Given the description of an element on the screen output the (x, y) to click on. 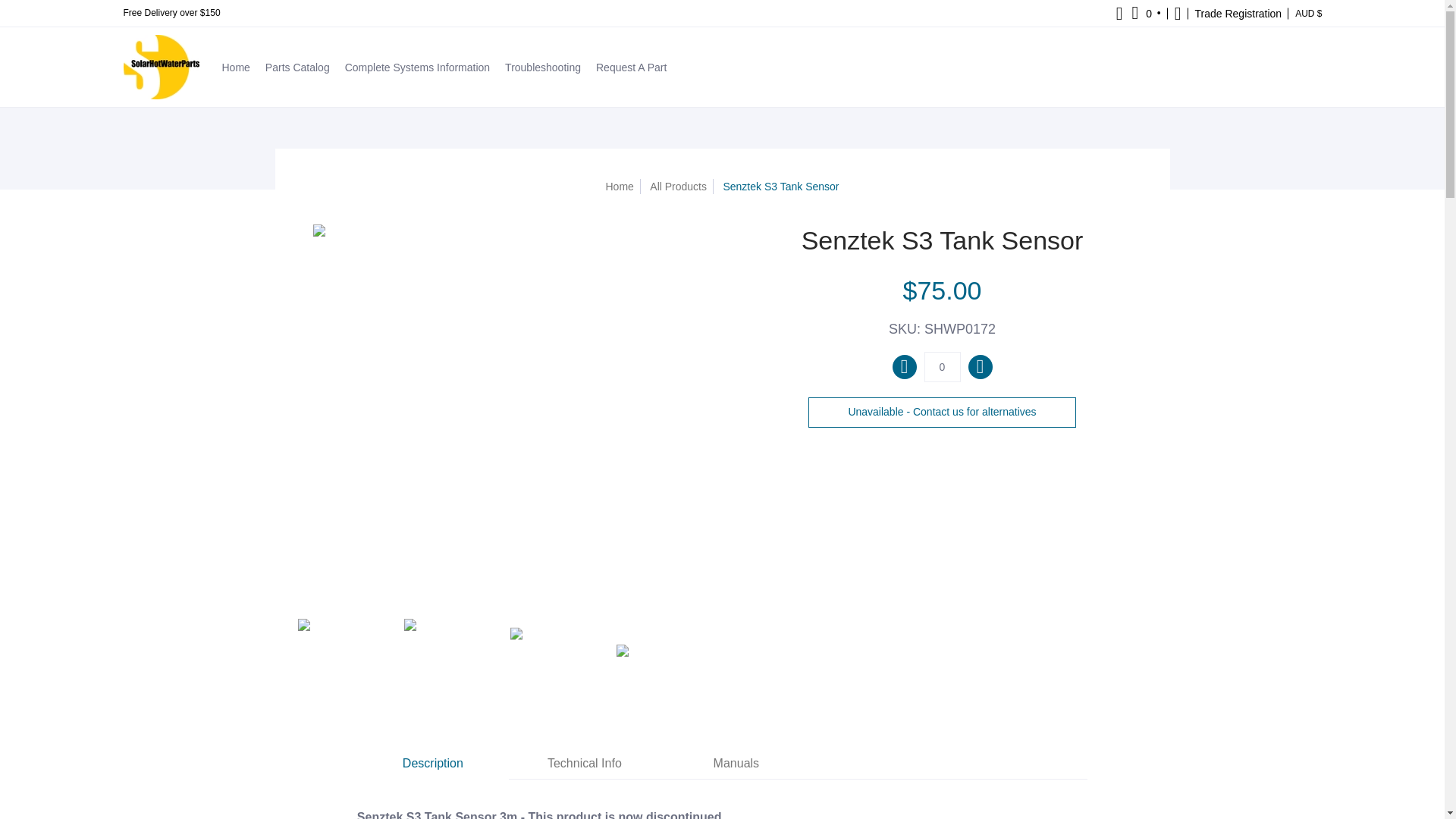
0 (941, 367)
Cart (1146, 13)
Log in (1238, 13)
Trade Registration (1238, 13)
Complete Systems Information (417, 67)
Troubleshooting (542, 67)
Solar Hot Water Parts (160, 67)
Unavailable - Contact us for alternatives (941, 412)
Parts Catalog (297, 67)
Update store currency (1307, 13)
